Given the description of an element on the screen output the (x, y) to click on. 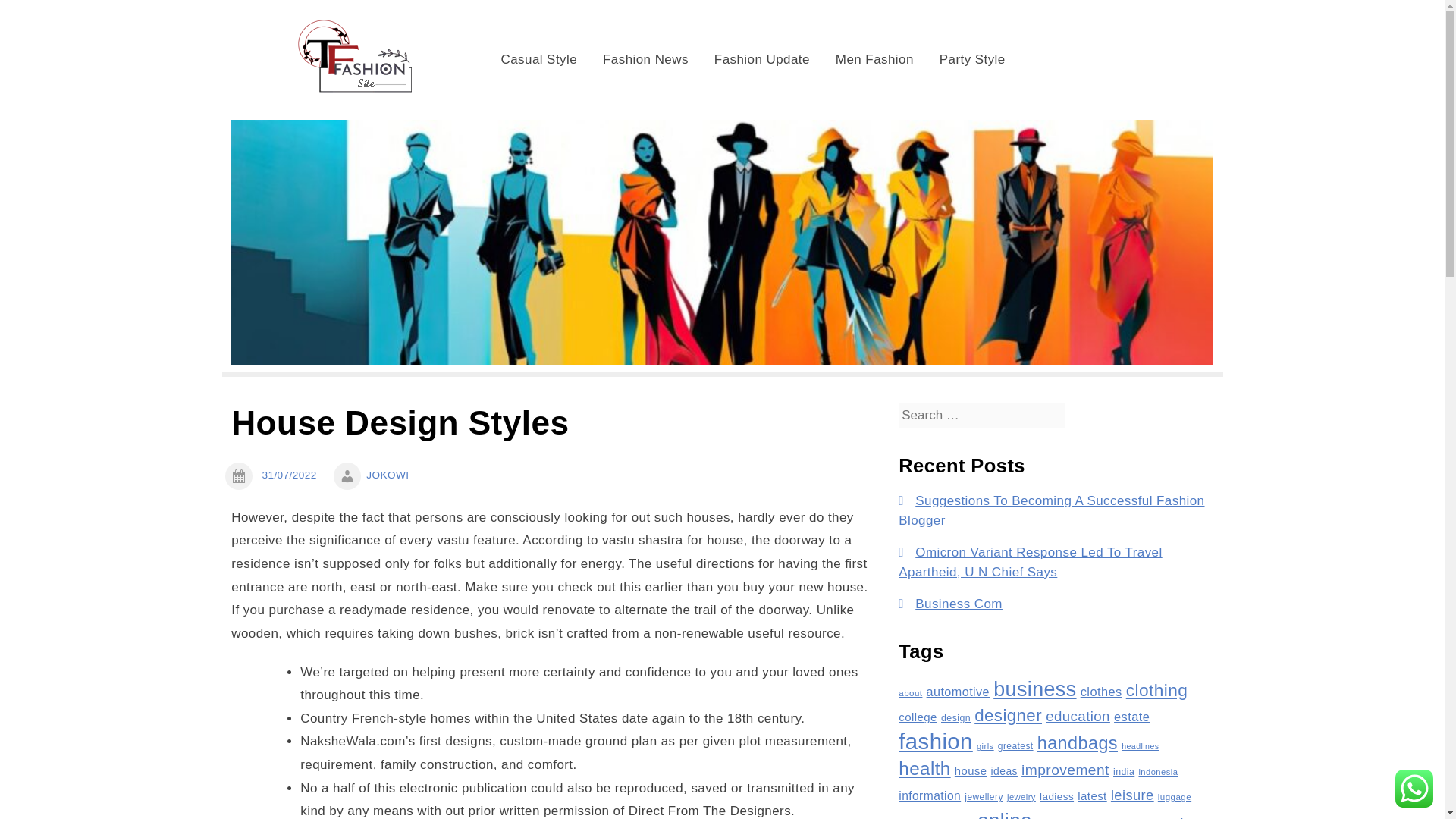
designer (1008, 714)
Party Style (971, 59)
Casual Style (539, 59)
clothing (1156, 690)
education (1077, 715)
Fashion News (645, 59)
Men Fashion (874, 59)
Business Com (959, 603)
TF (487, 29)
Fashion Update (761, 59)
estate (1131, 716)
design (955, 717)
college (917, 716)
business (1033, 689)
